Given the description of an element on the screen output the (x, y) to click on. 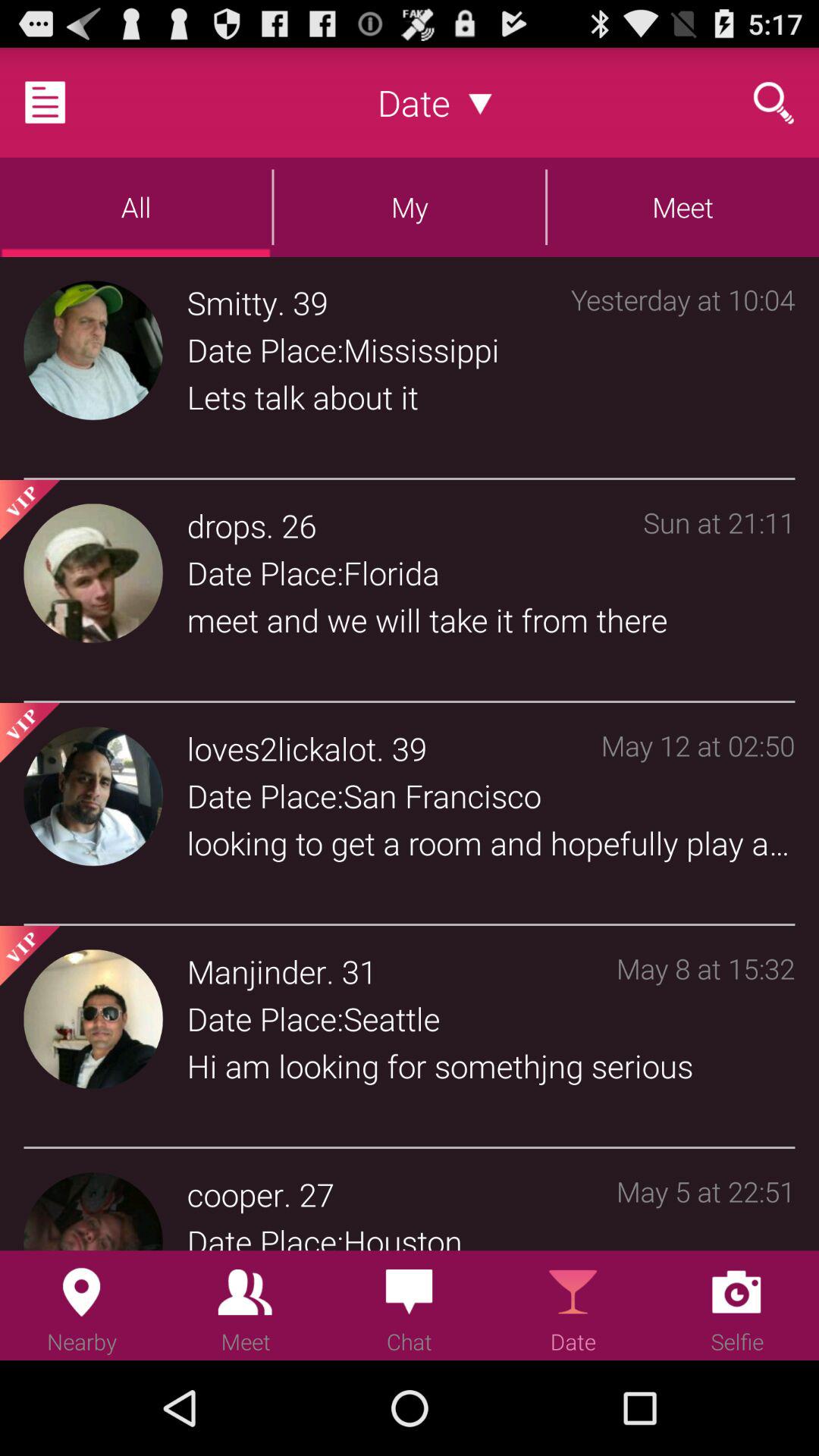
sort date by ascending or descending (480, 102)
